Given the description of an element on the screen output the (x, y) to click on. 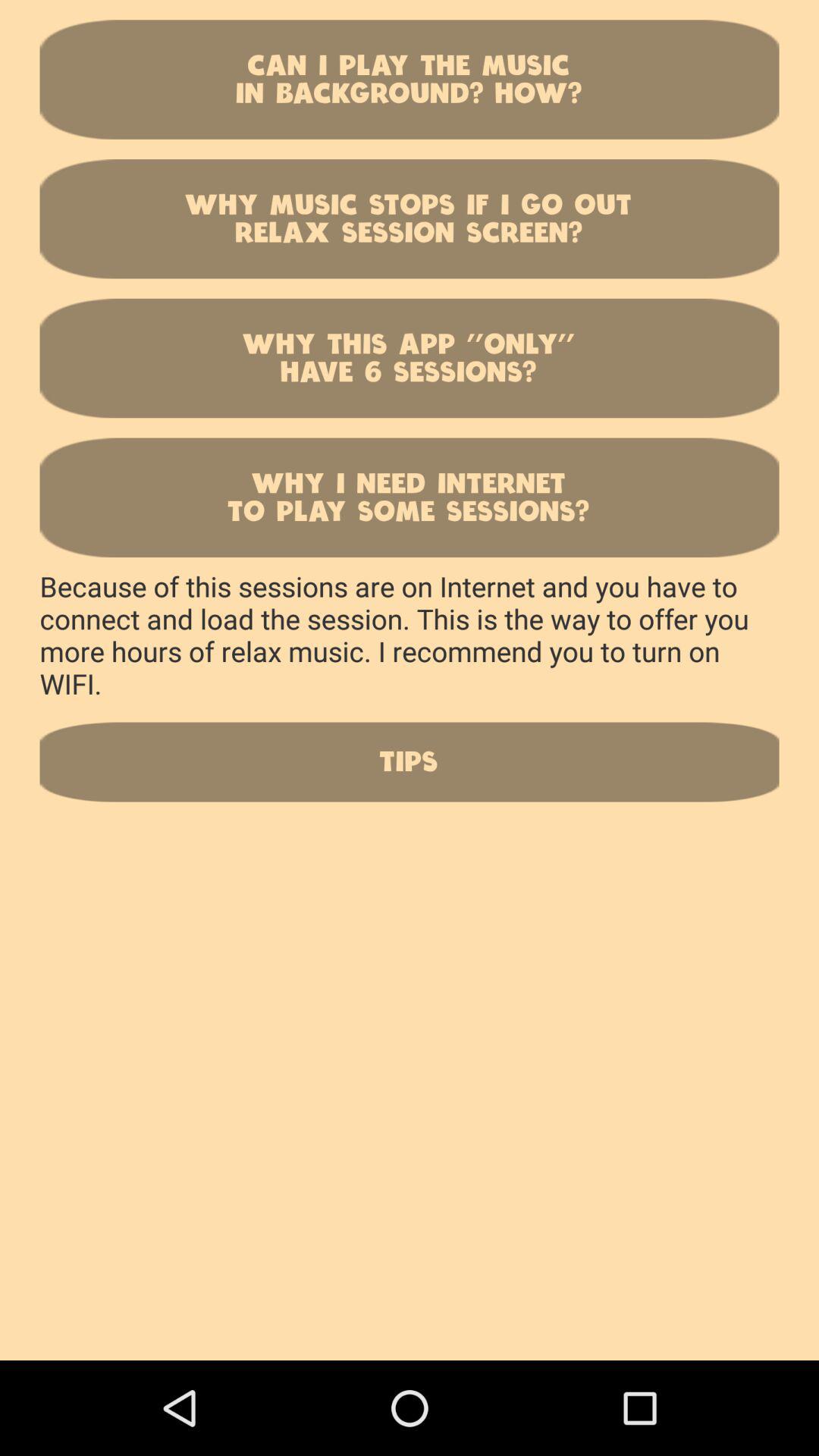
tap the tips (409, 761)
